Given the description of an element on the screen output the (x, y) to click on. 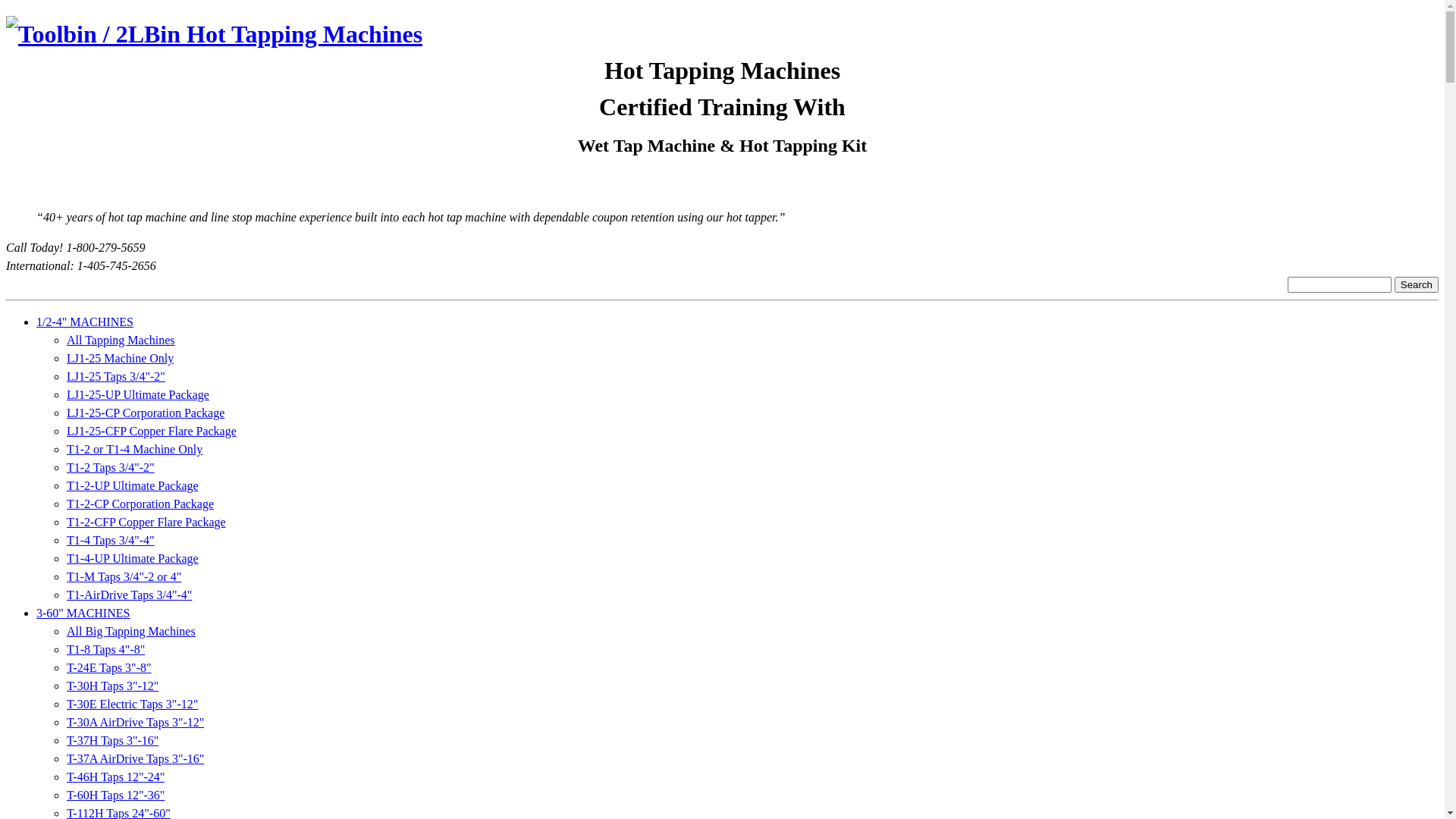
Search Element type: text (1416, 284)
LJ1-25-UP Ultimate Package Element type: text (137, 394)
All Tapping Machines Element type: text (120, 339)
LJ1-25 Machine Only Element type: text (119, 357)
T1-8 Taps 4"-8" Element type: text (105, 649)
T1-4-UP Ultimate Package Element type: text (132, 558)
3-60" MACHINES Element type: text (82, 612)
T1-2 or T1-4 Machine Only Element type: text (134, 448)
T-30A AirDrive Taps 3"-12" Element type: text (134, 721)
ToolBin / 2LBin Element type: hover (214, 33)
LJ1-25-CP Corporation Package Element type: text (145, 412)
T-24E Taps 3"-8" Element type: text (108, 667)
1/2-4" MACHINES Element type: text (84, 321)
LJ1-25 Taps 3/4"-2" Element type: text (115, 376)
T-37A AirDrive Taps 3"-16" Element type: text (134, 758)
Toolbin / 2LBin Logo Element type: hover (214, 33)
T1-2-UP Ultimate Package Element type: text (132, 485)
T1-2-CP Corporation Package Element type: text (139, 503)
T1-M Taps 3/4"-2 or 4" Element type: text (123, 576)
T1-4 Taps 3/4"-4" Element type: text (110, 539)
T-37H Taps 3"-16" Element type: text (112, 740)
LJ1-25-CFP Copper Flare Package Element type: text (151, 430)
T-30H Taps 3"-12" Element type: text (112, 685)
T-30E Electric Taps 3"-12" Element type: text (131, 703)
T1-2 Taps 3/4"-2" Element type: text (110, 467)
T-46H Taps 12"-24" Element type: text (115, 776)
All Big Tapping Machines Element type: text (130, 630)
T1-2-CFP Copper Flare Package Element type: text (145, 521)
T-60H Taps 12"-36" Element type: text (115, 794)
T1-AirDrive Taps 3/4"-4" Element type: text (128, 594)
